Given the description of an element on the screen output the (x, y) to click on. 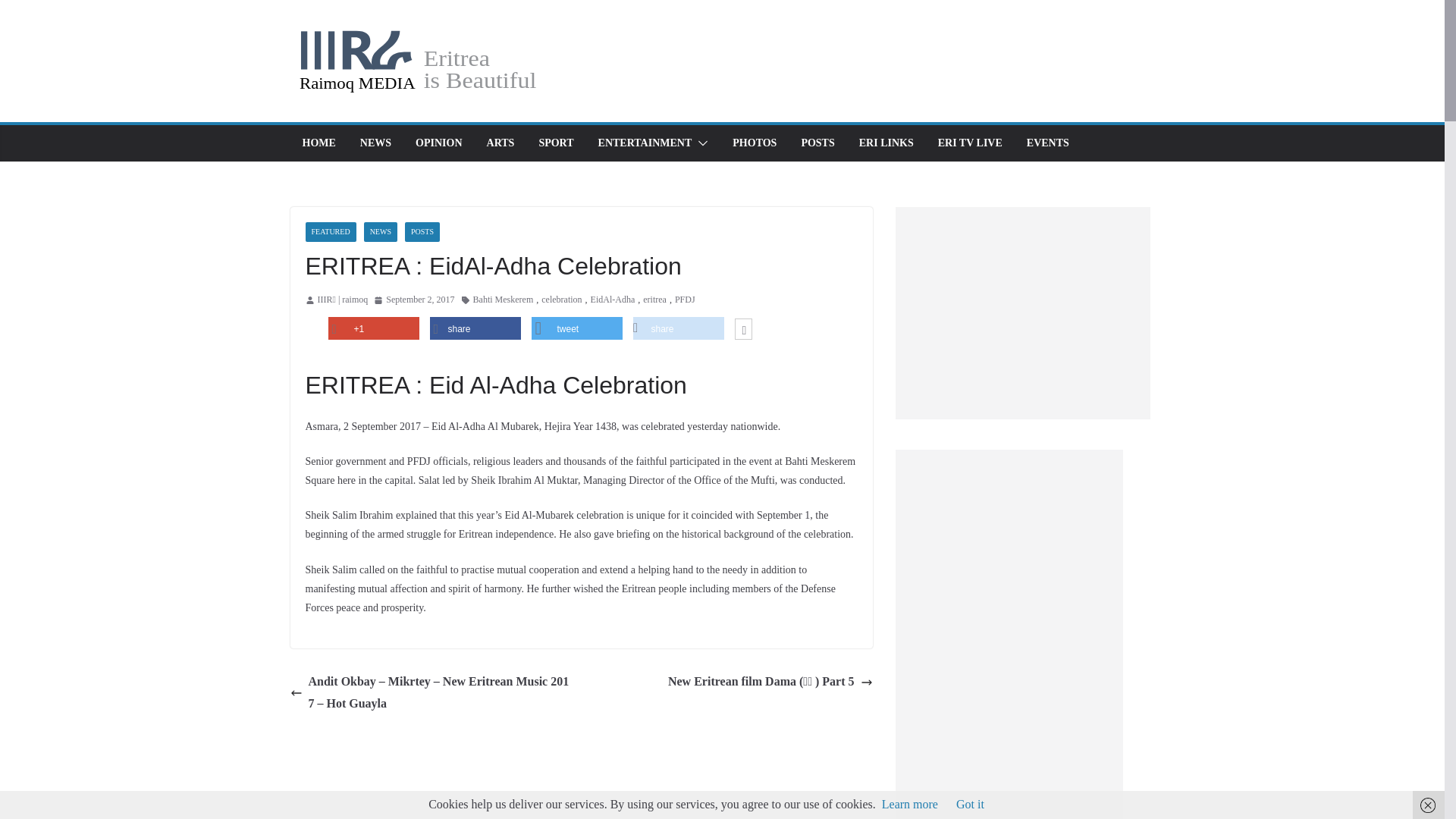
NEWS (380, 231)
September 2, 2017 (414, 299)
Share on Twitter (576, 328)
share (474, 328)
Advertisement (1022, 313)
SPORT (555, 142)
tweet (576, 328)
Bahti Meskerem (503, 299)
HOME (317, 142)
ERI TV LIVE (970, 142)
